Given the description of an element on the screen output the (x, y) to click on. 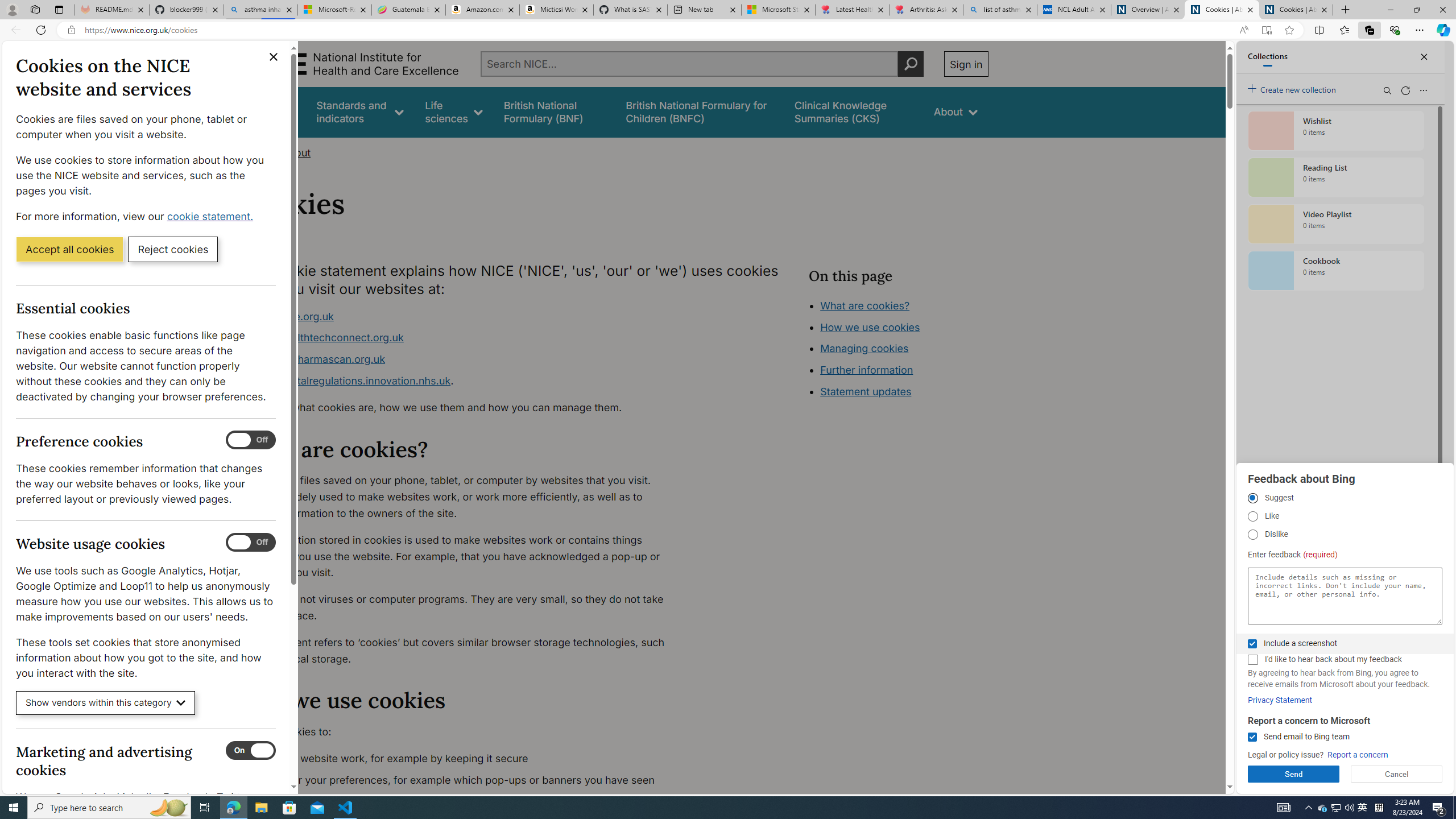
Cancel (1396, 773)
How we use cookies (909, 389)
Further information (865, 369)
Include a screenshot (1251, 643)
cookie statement. (Opens in a new window) (211, 215)
